Given the description of an element on the screen output the (x, y) to click on. 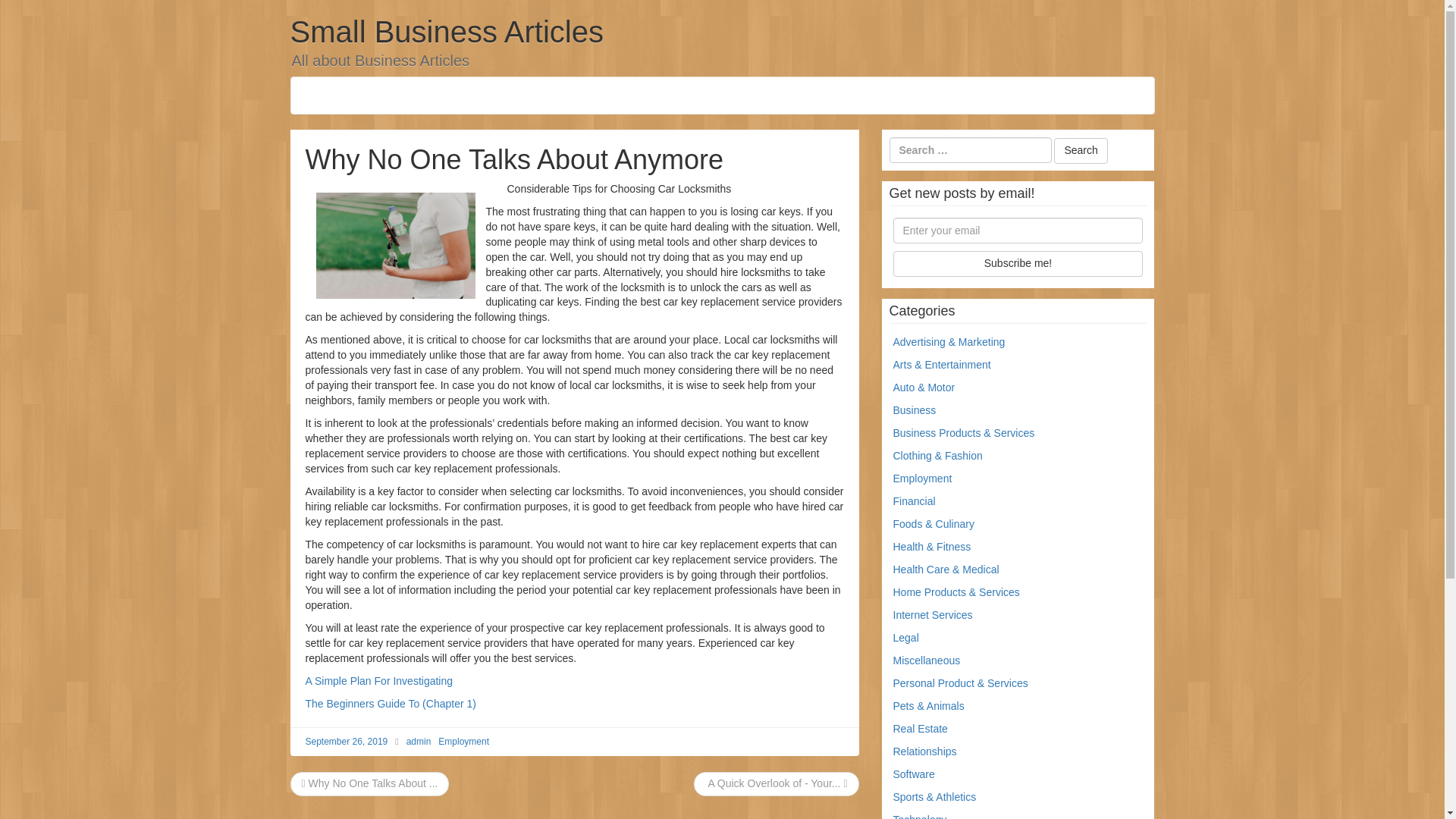
Small Business Articles (445, 31)
Search (1080, 150)
Relationships (924, 751)
Miscellaneous (926, 660)
September 26, 2019 (345, 741)
 A Quick Overlook of - Your...  (775, 783)
admin (418, 741)
Subscribe me! (1017, 263)
Subscribe me! (1017, 263)
Internet Services (932, 614)
Technology (920, 816)
Business (914, 410)
Small Business Articles (445, 31)
 Why No One Talks About ... (369, 783)
Financial (914, 500)
